Given the description of an element on the screen output the (x, y) to click on. 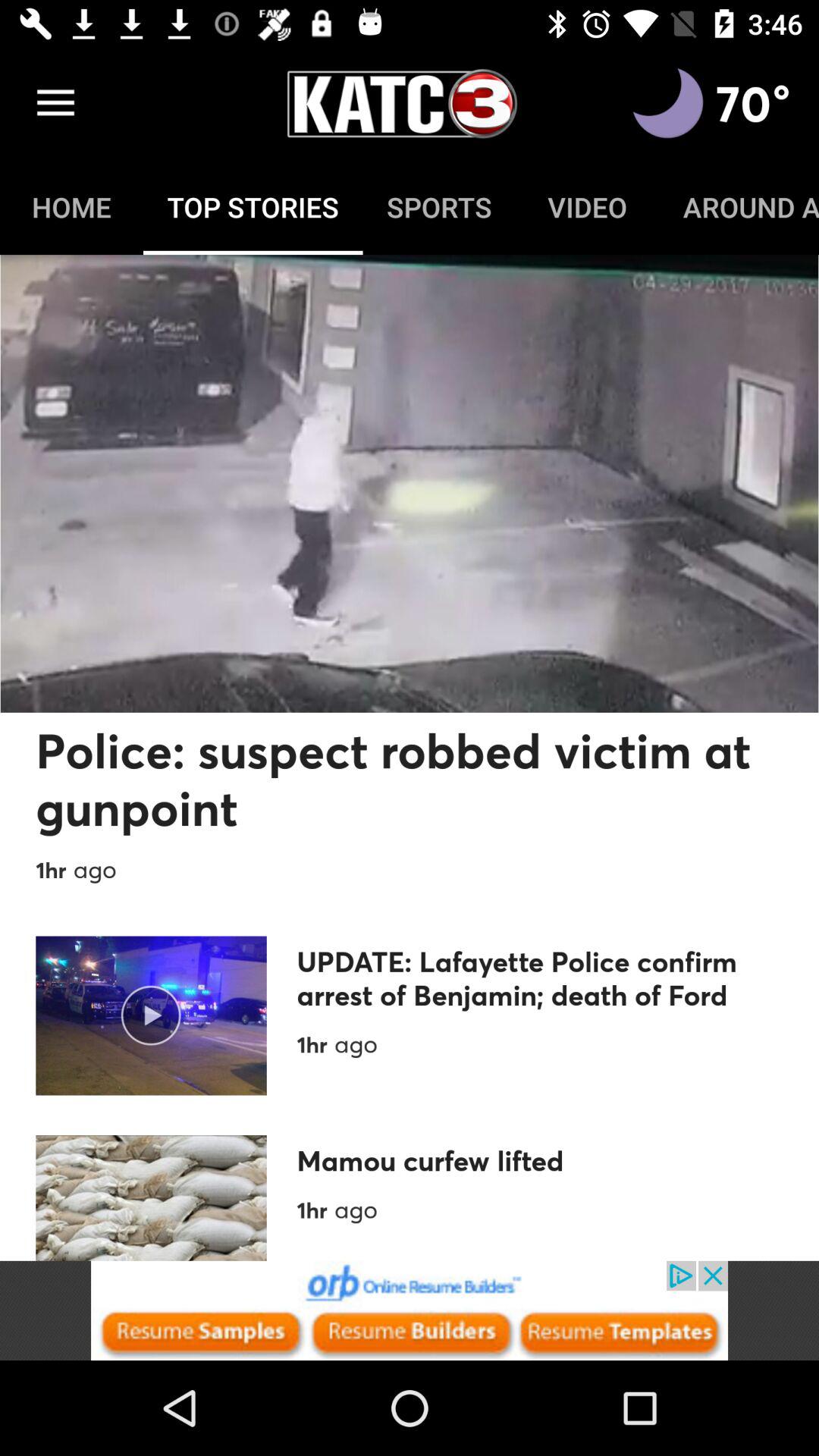
go to advertisement (668, 103)
